Given the description of an element on the screen output the (x, y) to click on. 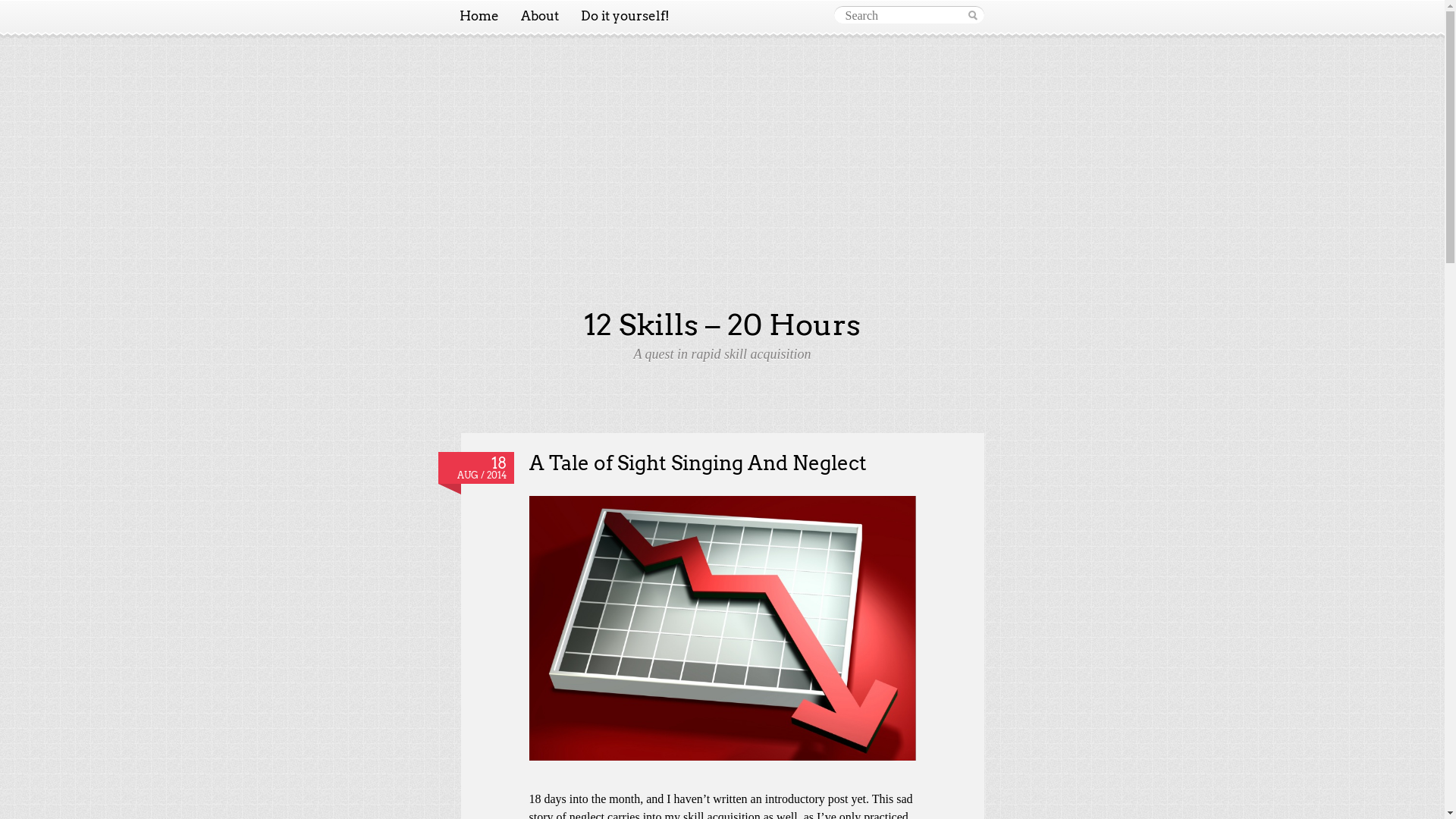
Advertisement Element type: hover (722, 194)
Do it yourself! Element type: text (624, 15)
18
AUG / 2014 Element type: text (476, 467)
About Element type: text (539, 15)
Home Element type: text (479, 15)
